Given the description of an element on the screen output the (x, y) to click on. 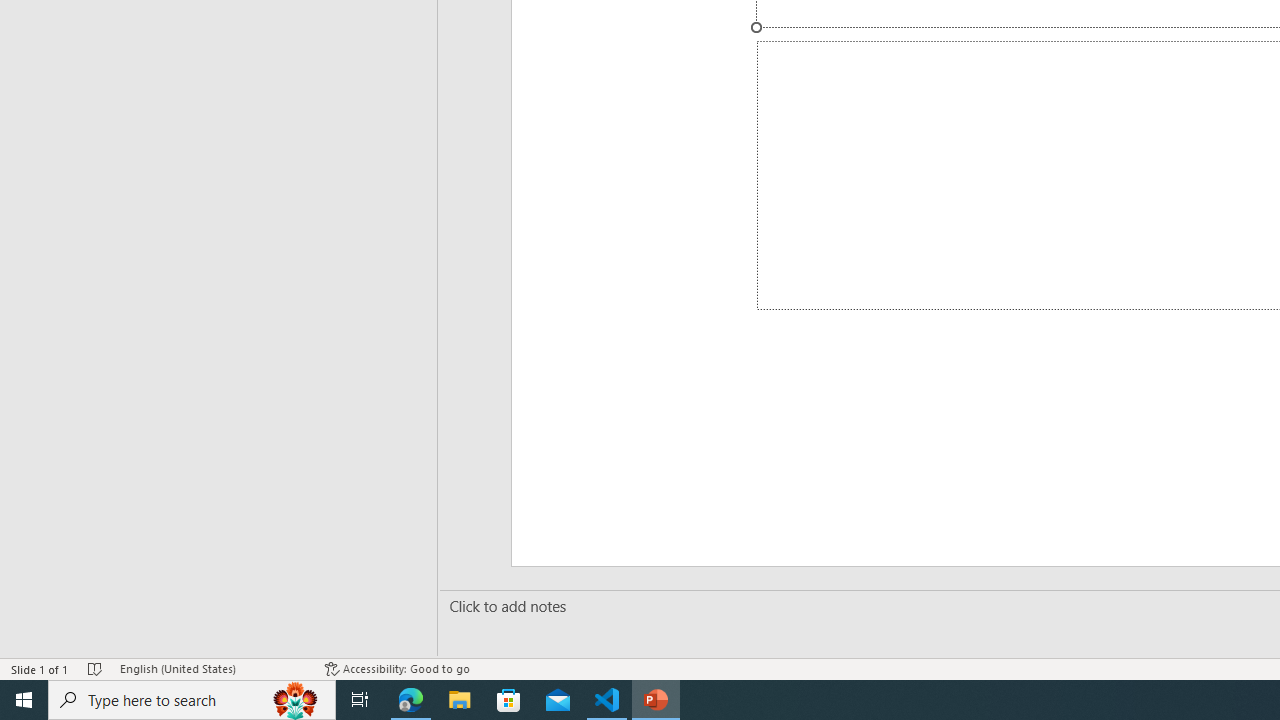
Spell Check No Errors (95, 668)
Accessibility Checker Accessibility: Good to go (397, 668)
